Given the description of an element on the screen output the (x, y) to click on. 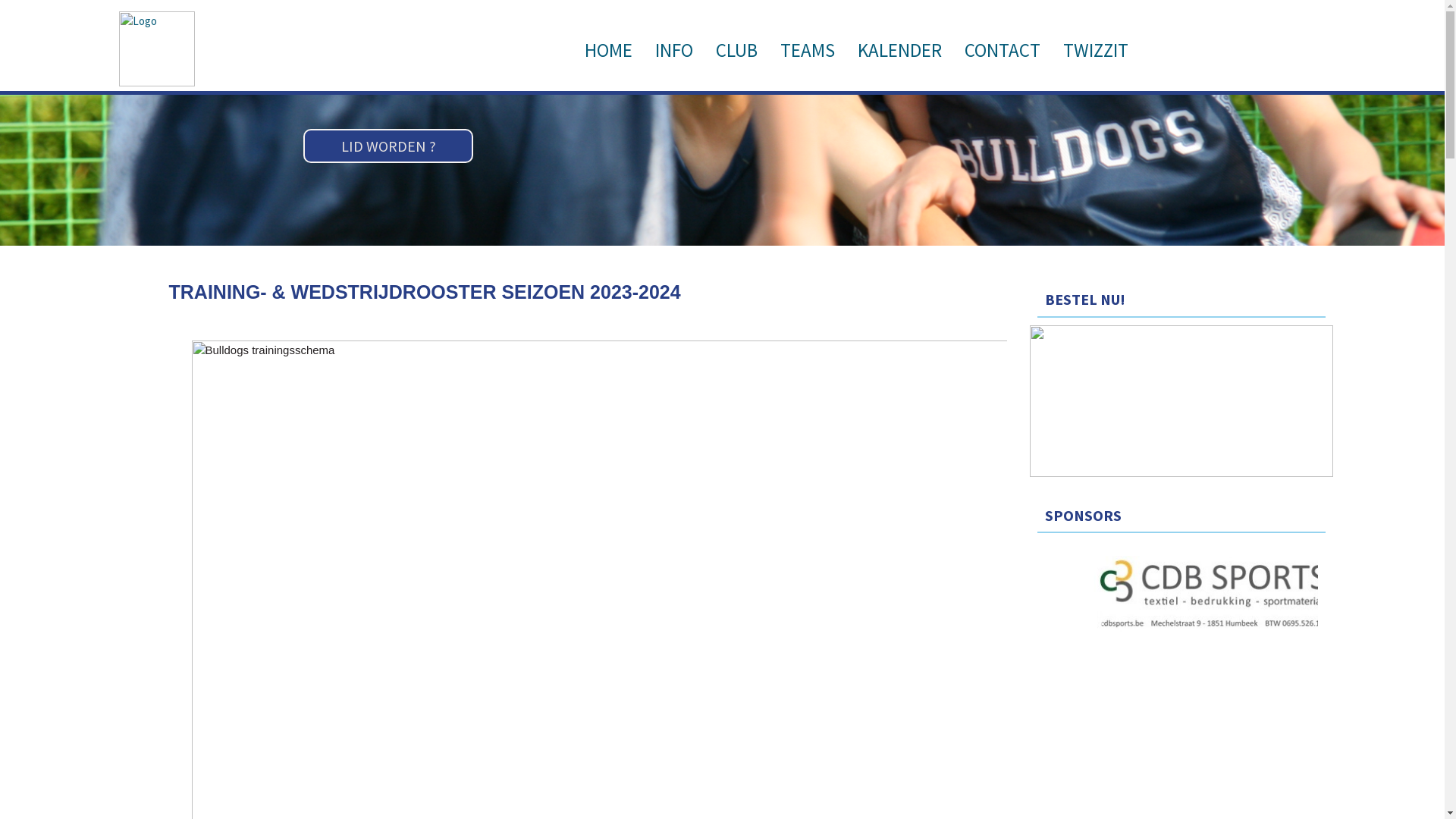
LID WORDEN Element type: text (383, 145)
TWIZZIT Element type: text (1095, 50)
Home Element type: hover (156, 82)
HOME Element type: text (607, 50)
CONTACT Element type: text (1002, 50)
TRAINING- & WEDSTRIJDROOSTER SEIZOEN 2023-2024 Element type: text (424, 291)
Merchandise Element type: hover (1181, 472)
